Given the description of an element on the screen output the (x, y) to click on. 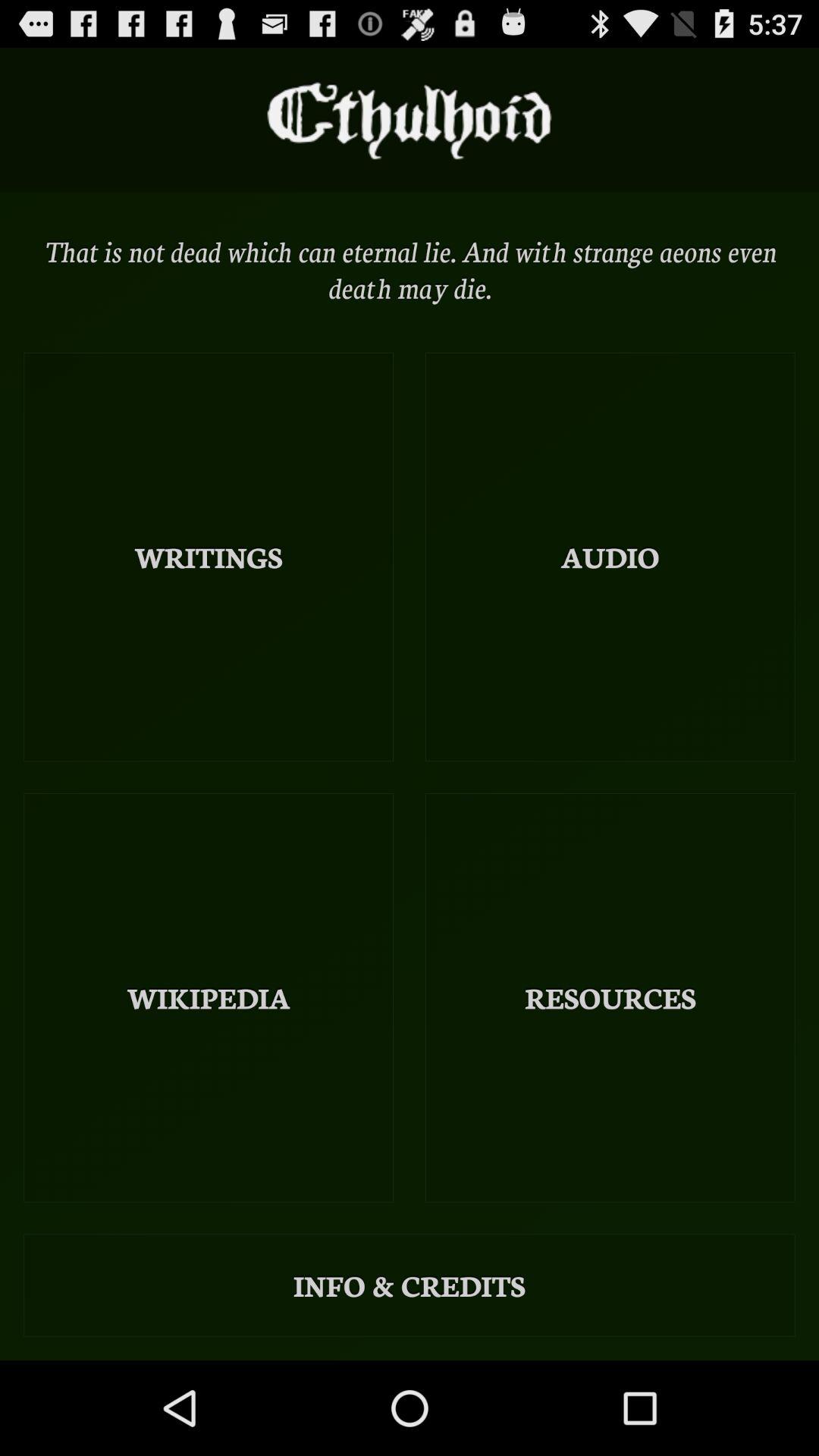
scroll until info & credits (409, 1285)
